Given the description of an element on the screen output the (x, y) to click on. 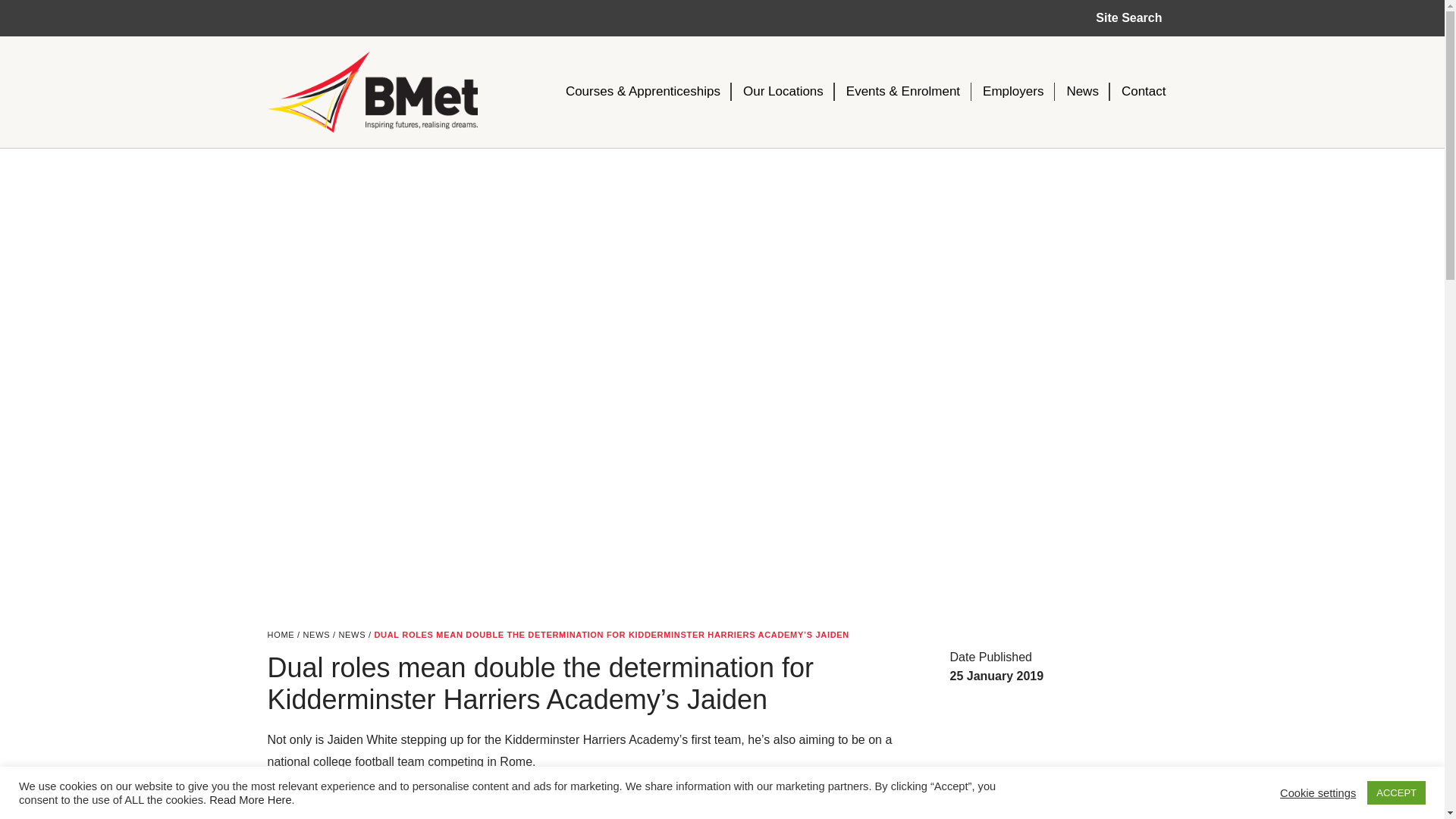
Go to the News category archives. (351, 634)
Go to News. (316, 634)
Go to BMet. (280, 634)
Site Search (1128, 17)
